Given the description of an element on the screen output the (x, y) to click on. 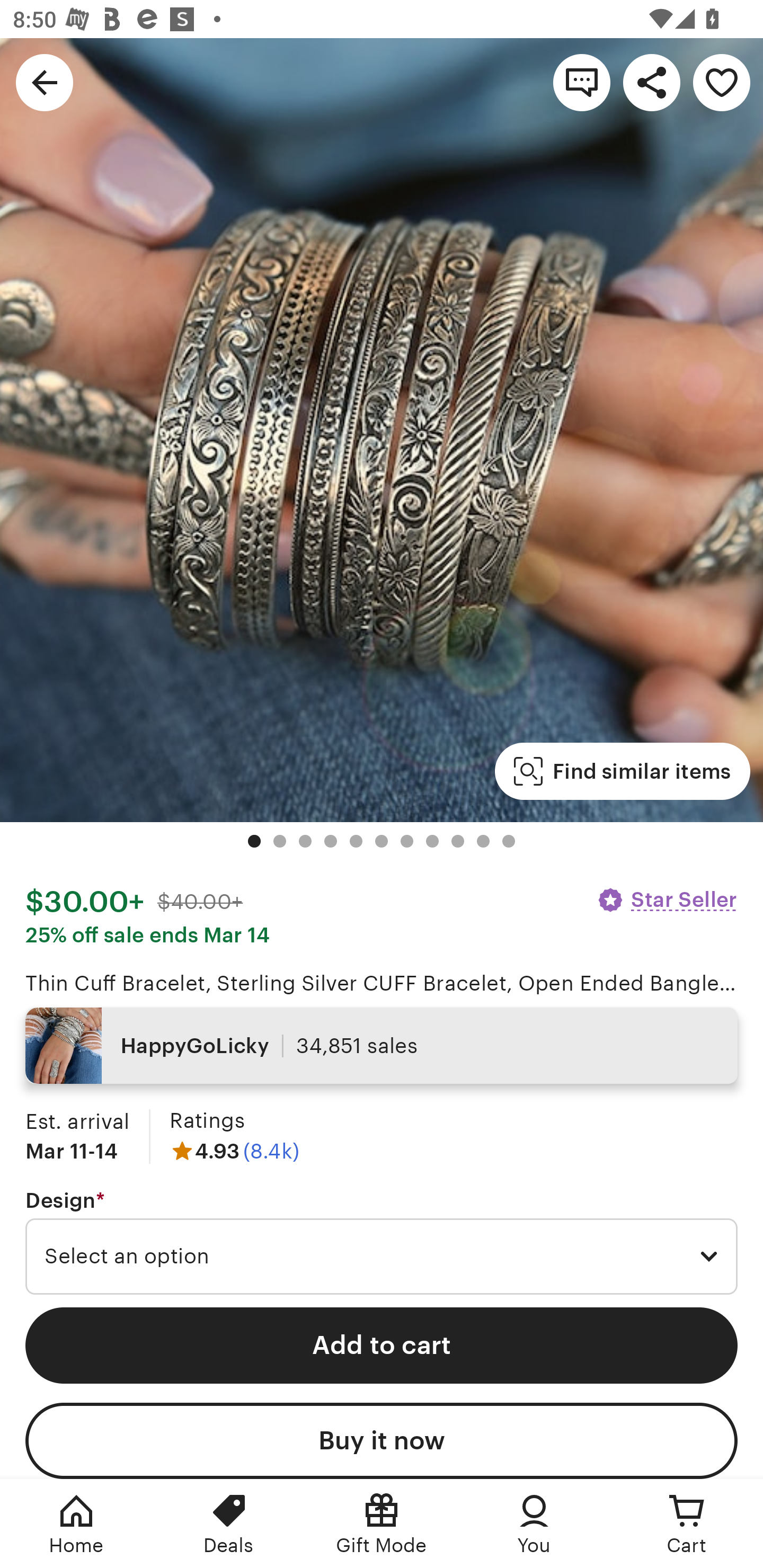
Navigate up (44, 81)
Contact shop (581, 81)
Share (651, 81)
Find similar items (622, 771)
Star Seller (666, 899)
HappyGoLicky 34,851 sales (381, 1045)
Ratings (206, 1120)
4.93 (8.4k) (234, 1150)
Design * Required Select an option (381, 1241)
Select an option (381, 1256)
Add to cart (381, 1344)
Buy it now (381, 1440)
Home (76, 1523)
Gift Mode (381, 1523)
You (533, 1523)
Cart (686, 1523)
